Given the description of an element on the screen output the (x, y) to click on. 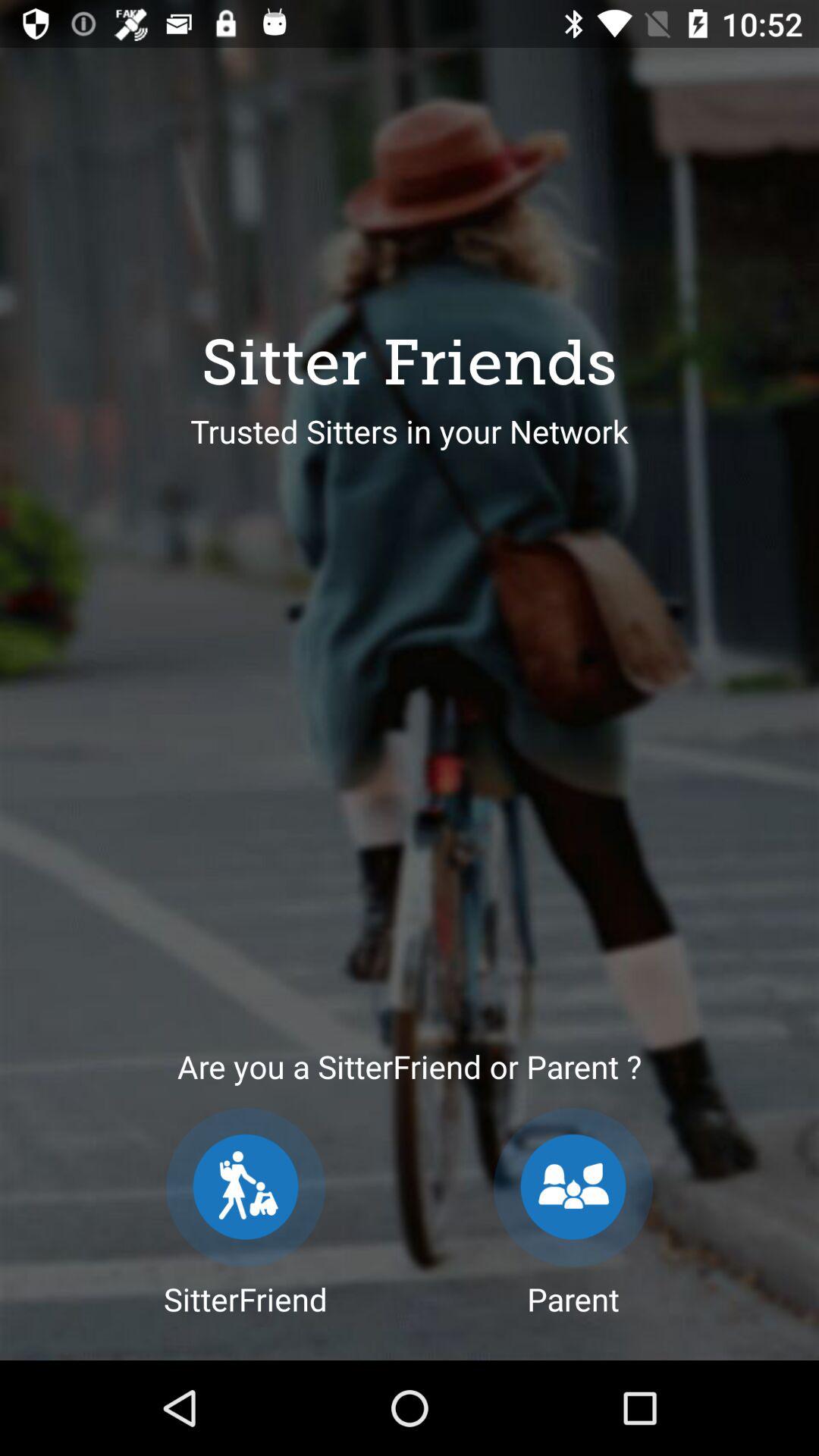
sittefried (245, 1187)
